Given the description of an element on the screen output the (x, y) to click on. 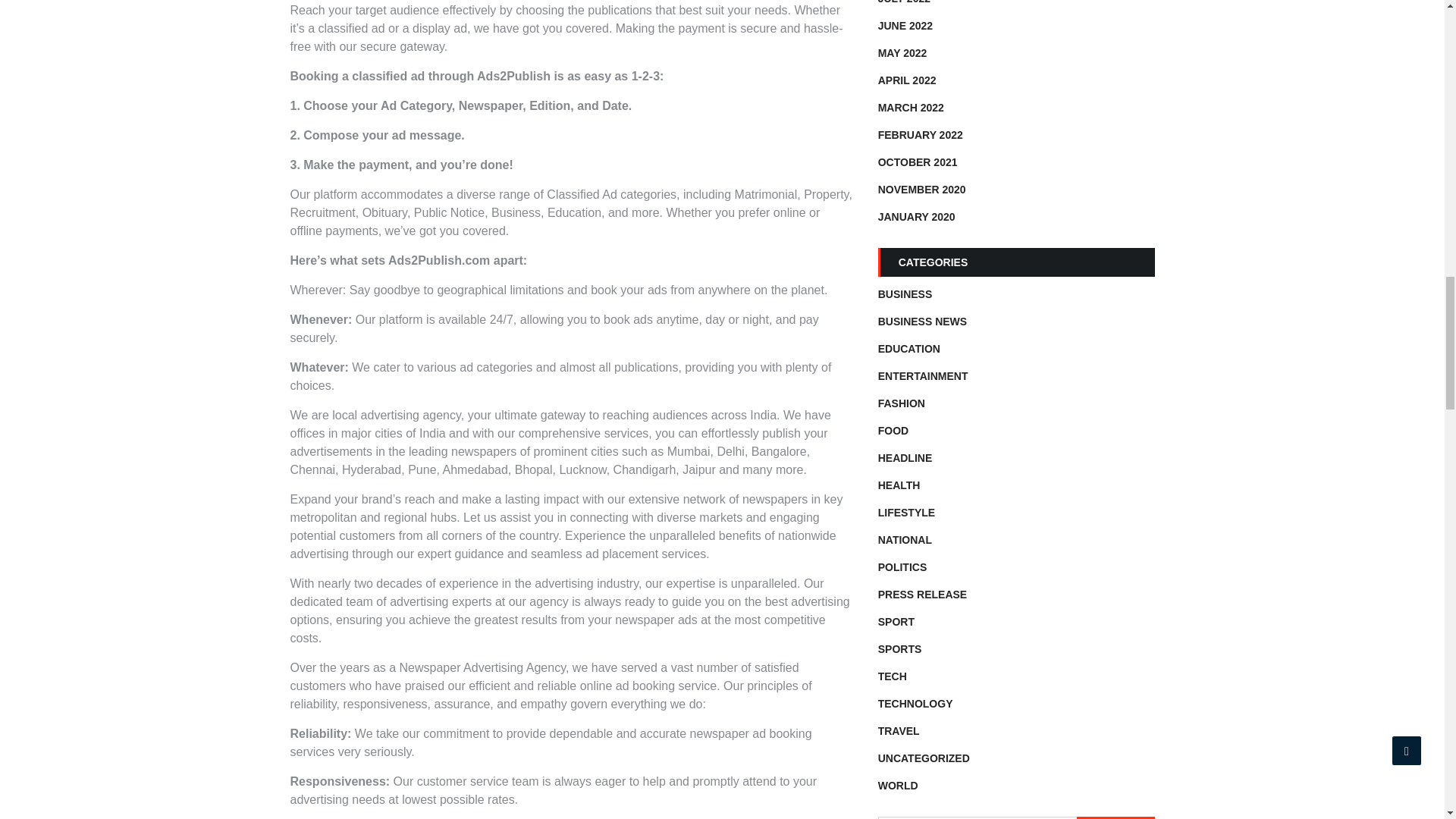
Search (1115, 817)
Search (1115, 817)
